Given the description of an element on the screen output the (x, y) to click on. 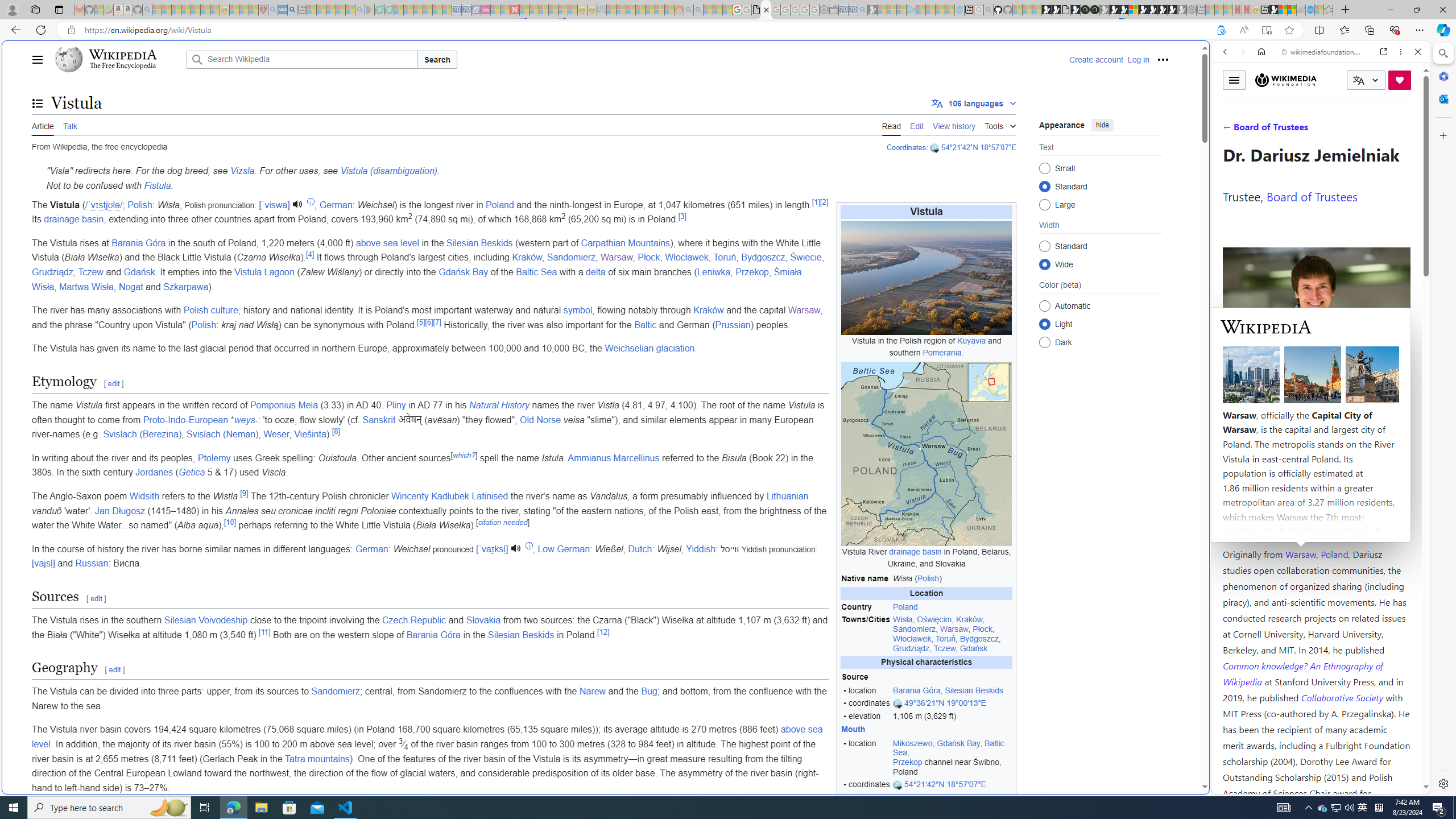
google - Search - Sleeping (359, 9)
Poland (952, 607)
Ptolemy (214, 457)
Baltic (645, 324)
World - MSN (727, 389)
World - MSN (1283, 9)
View history (954, 124)
Class: mw-file-element (926, 453)
*weys- (243, 419)
